Given the description of an element on the screen output the (x, y) to click on. 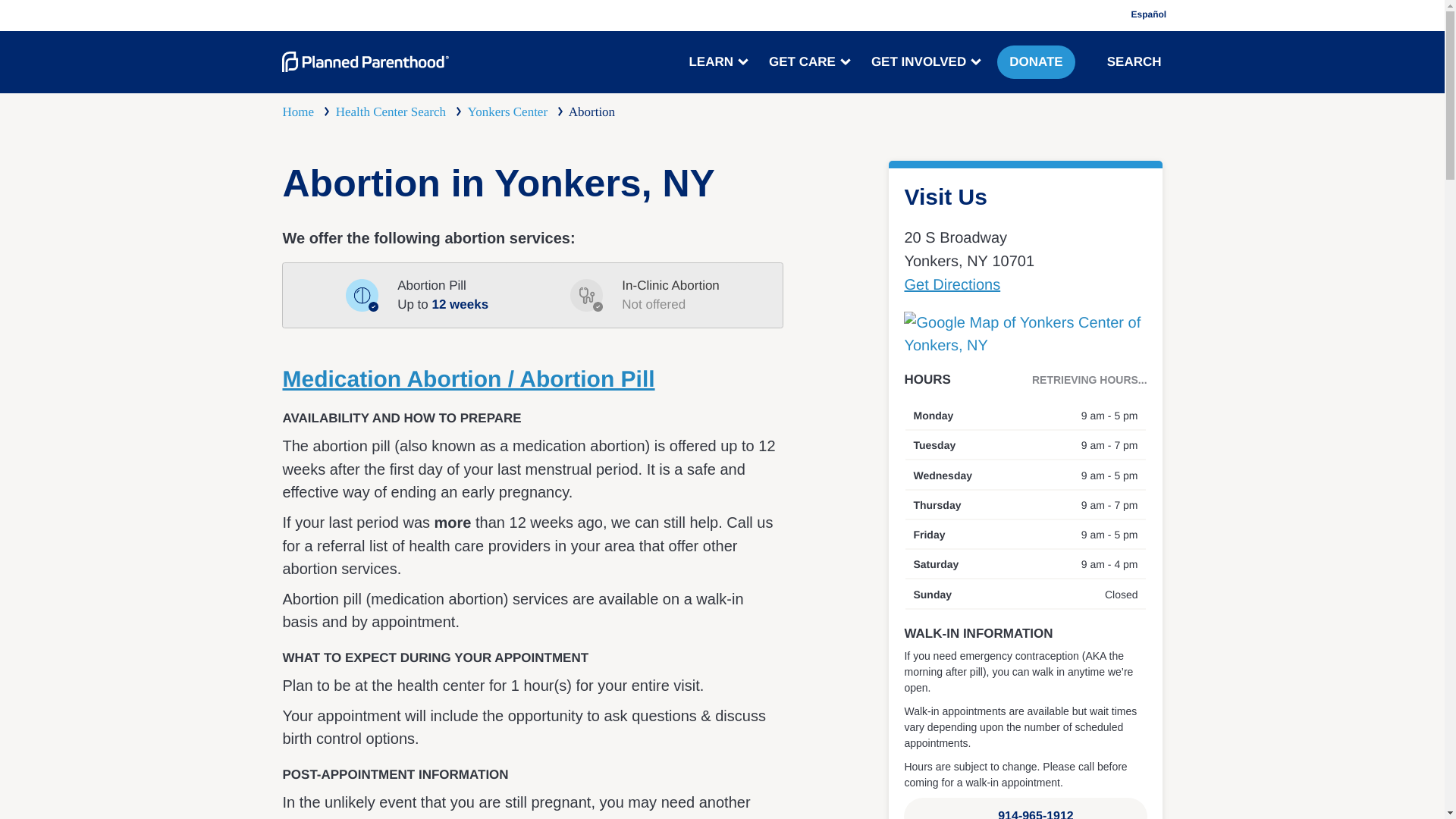
GET INVOLVED (924, 62)
GET CARE (808, 62)
Back to home (365, 61)
LEARN (717, 62)
OPEN SEARCH (1096, 61)
